Given the description of an element on the screen output the (x, y) to click on. 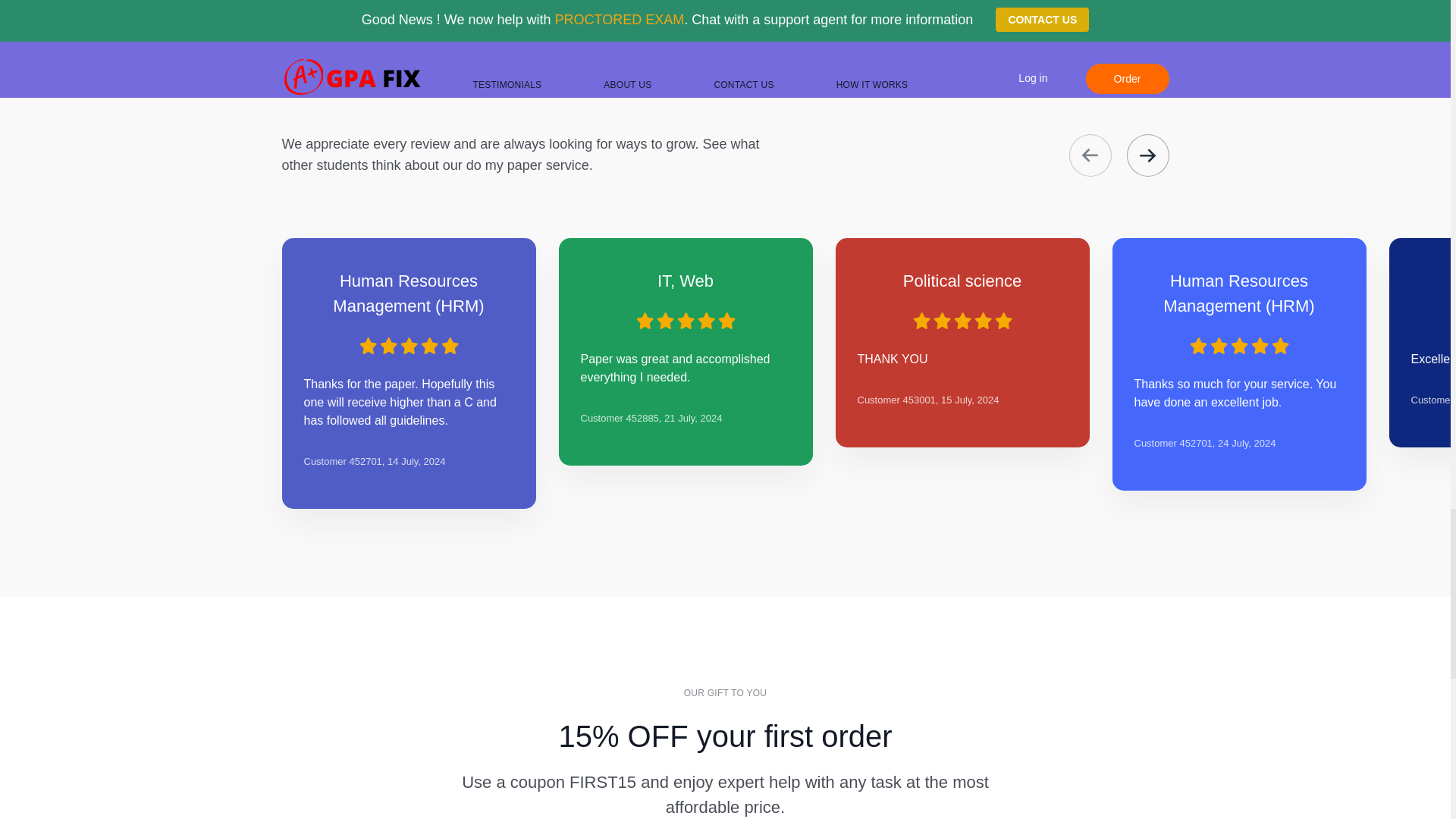
Next (1147, 155)
Previous (1090, 155)
